Given the description of an element on the screen output the (x, y) to click on. 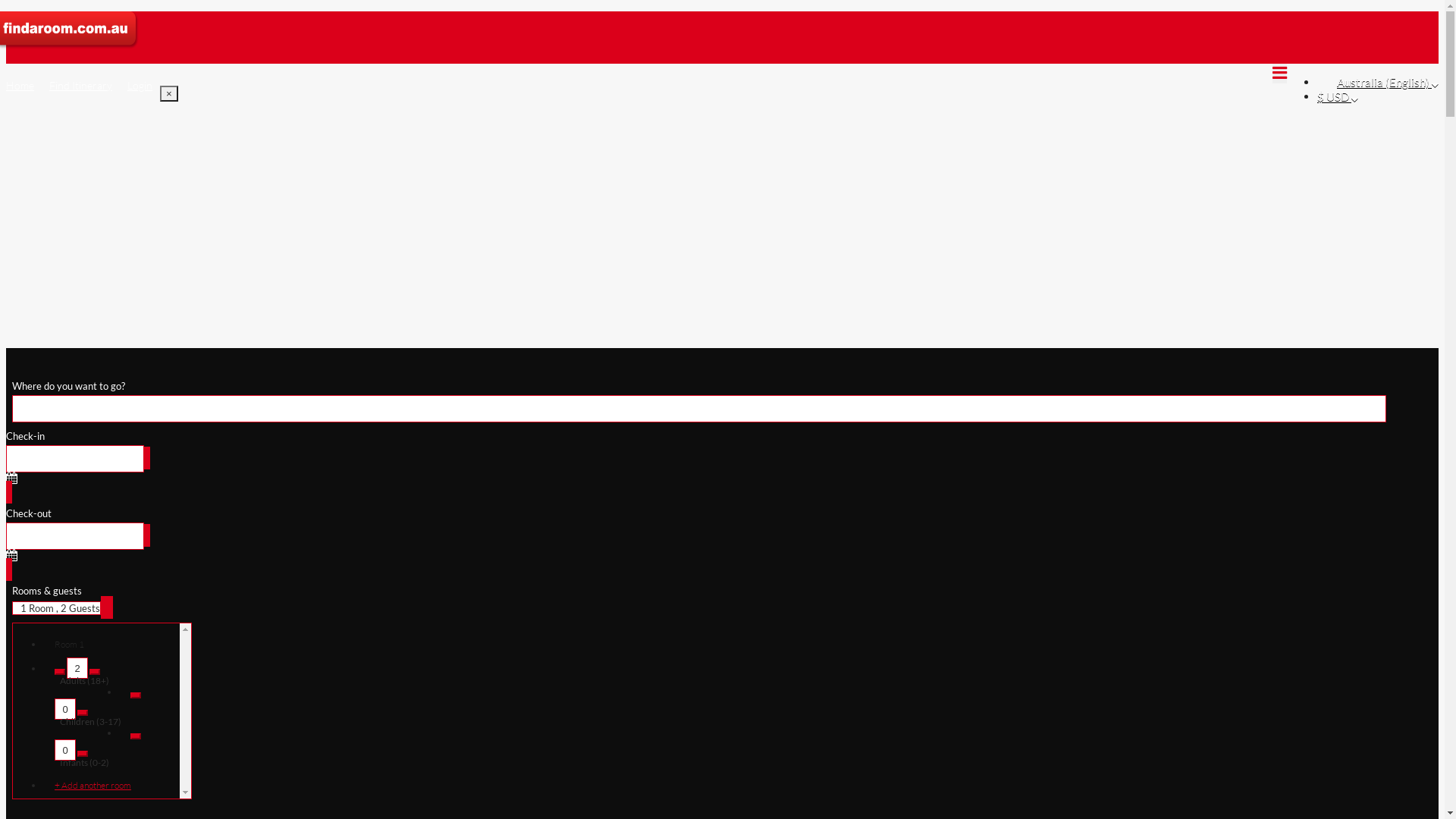
Australia (English) Element type: text (1387, 81)
Login Element type: text (139, 84)
Find Itinerary Element type: text (80, 84)
+ Add another room Element type: text (104, 784)
$ USD Element type: text (1337, 96)
